Given the description of an element on the screen output the (x, y) to click on. 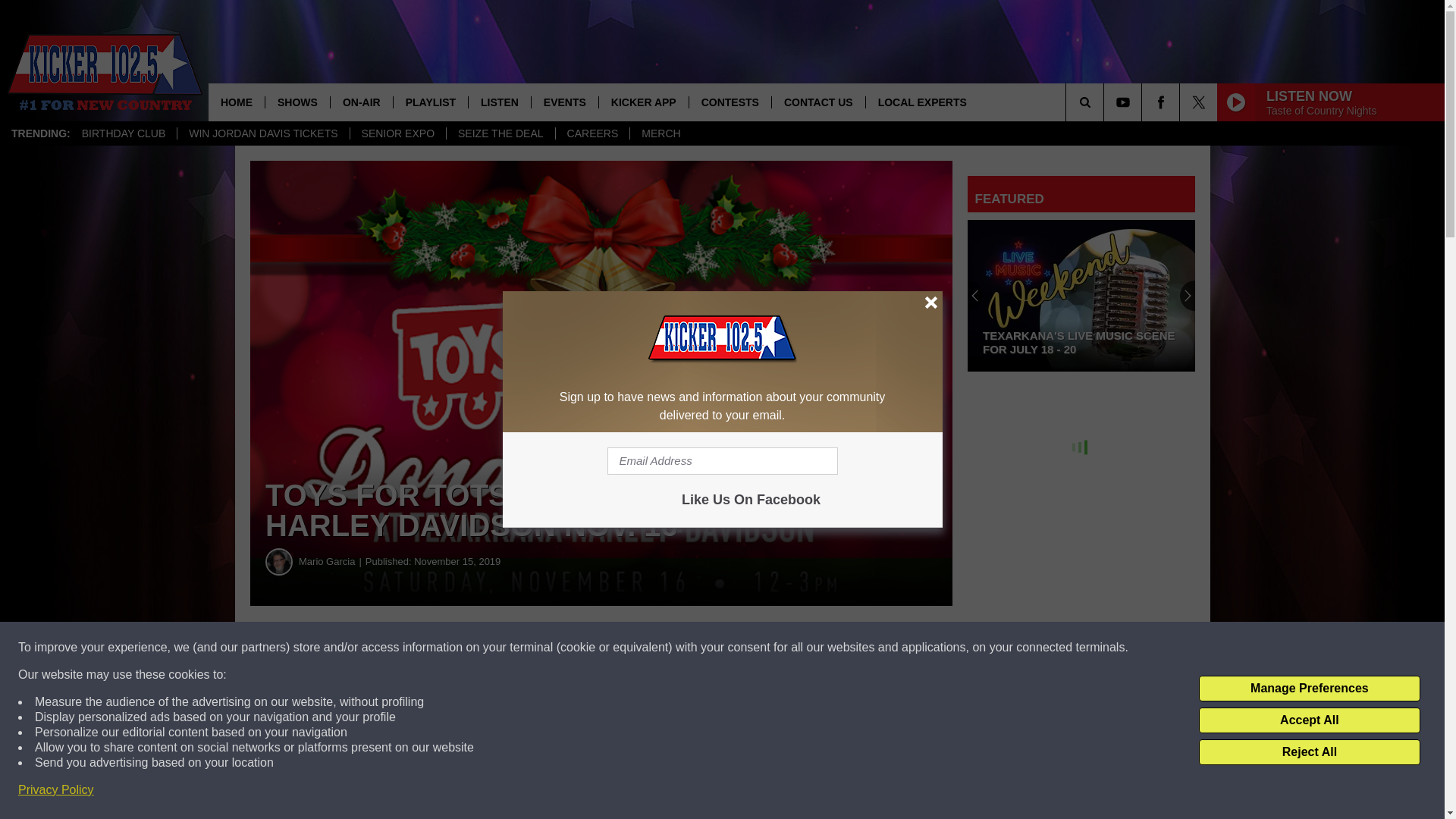
WIN JORDAN DAVIS TICKETS (262, 133)
LISTEN (499, 102)
Privacy Policy (55, 789)
Share on Twitter (741, 647)
KICKER APP (643, 102)
Reject All (1309, 751)
SEARCH (1106, 102)
SEARCH (1106, 102)
CONTESTS (729, 102)
Email Address (722, 461)
CAREERS (592, 133)
MERCH (659, 133)
SEIZE THE DEAL (499, 133)
Share on Facebook (460, 647)
SHOWS (297, 102)
